Given the description of an element on the screen output the (x, y) to click on. 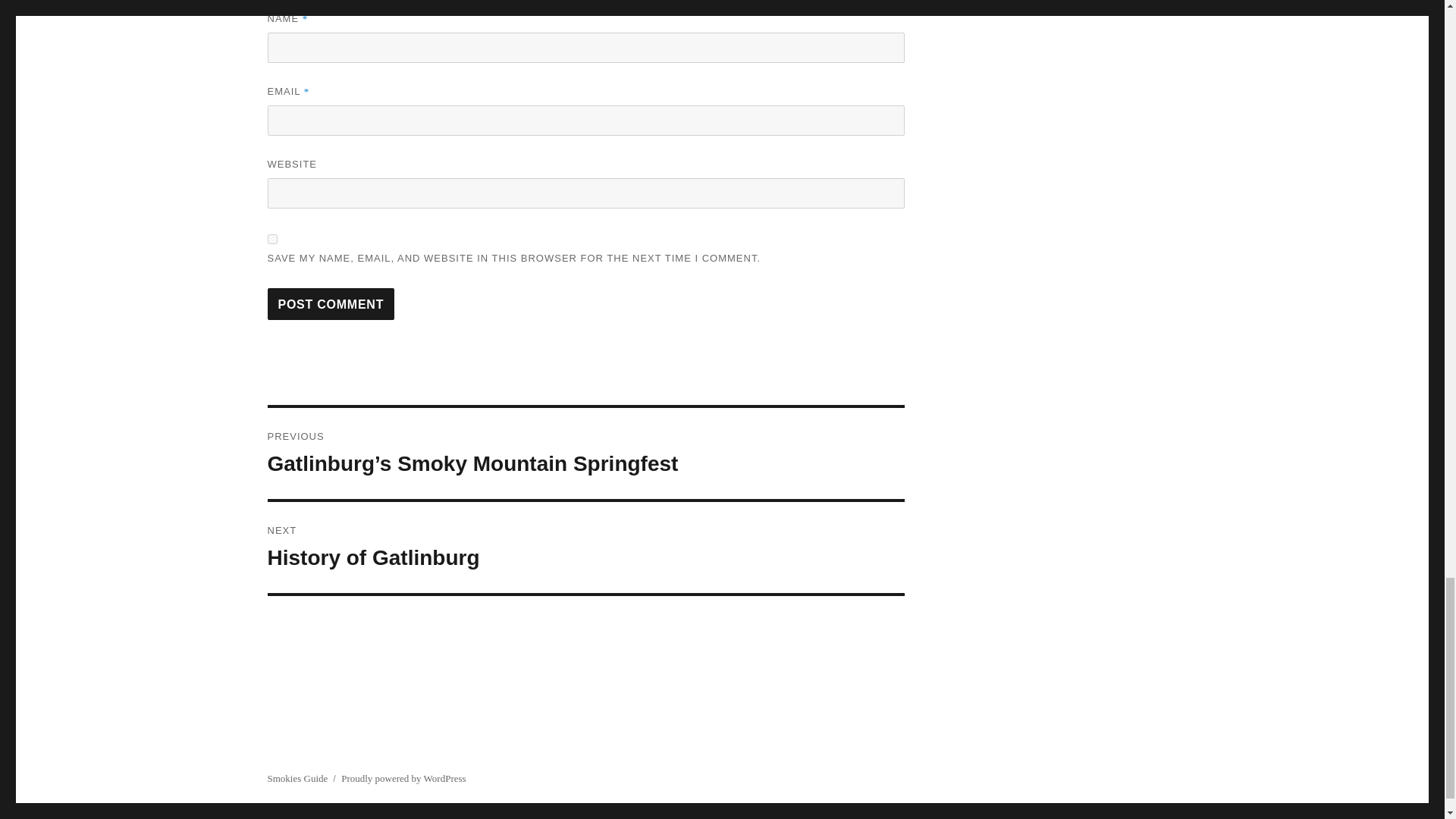
yes (271, 239)
Post Comment (585, 547)
Post Comment (330, 304)
